Given the description of an element on the screen output the (x, y) to click on. 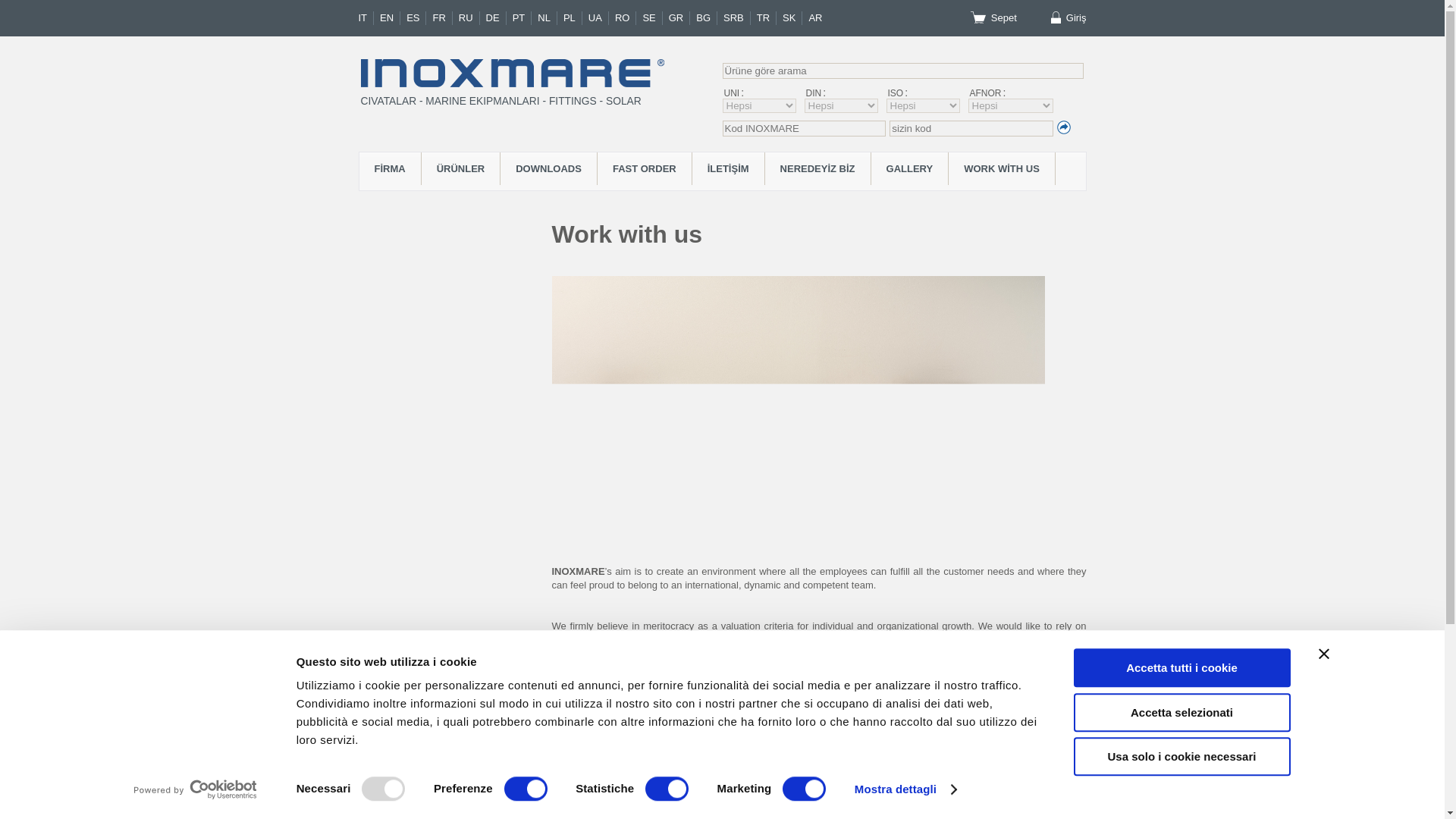
PL (572, 18)
Mostra dettagli (905, 789)
PT (522, 18)
DE (496, 18)
EN (390, 18)
FR (441, 18)
RU (469, 18)
IT (366, 18)
NL (547, 18)
ES (416, 18)
